Given the description of an element on the screen output the (x, y) to click on. 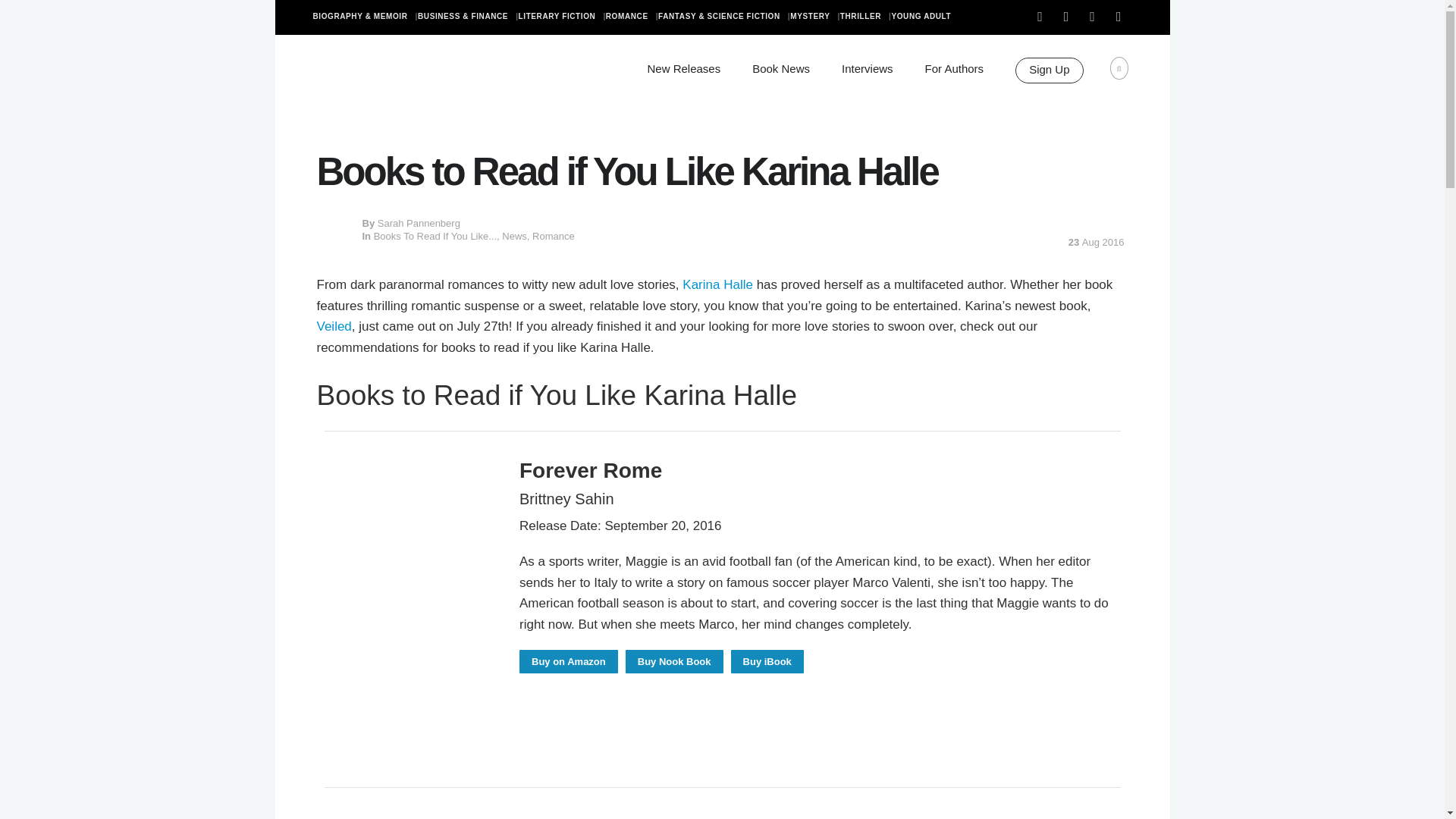
LITERARY FICTION (561, 16)
ROMANCE (631, 16)
MYSTERY (815, 16)
News (514, 235)
For Authors (954, 68)
THRILLER (865, 16)
Sign Up (1048, 70)
Sarah Pannenberg (418, 223)
New Releases (683, 68)
Interviews (867, 68)
